Given the description of an element on the screen output the (x, y) to click on. 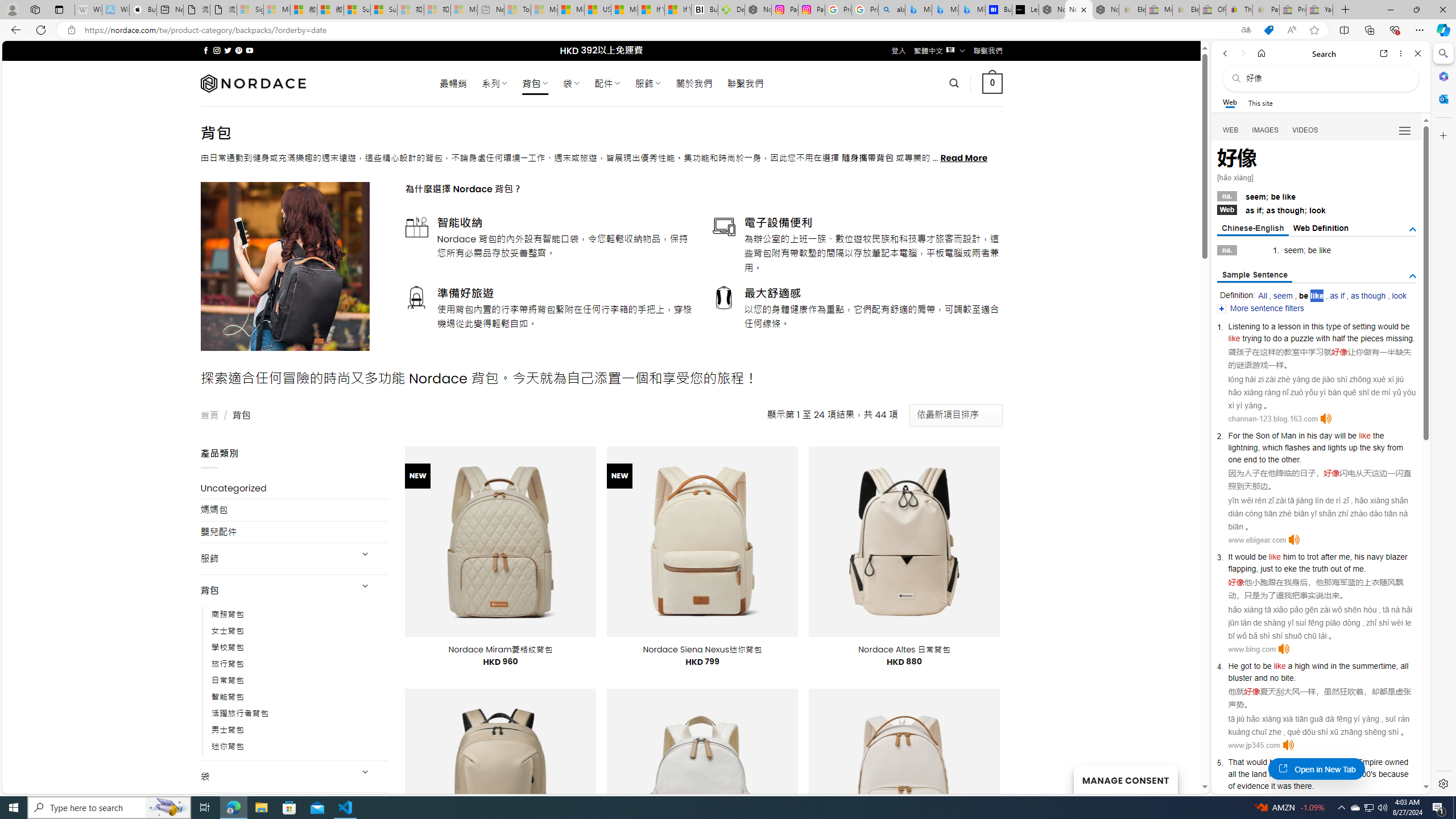
navy (1375, 556)
